Given the description of an element on the screen output the (x, y) to click on. 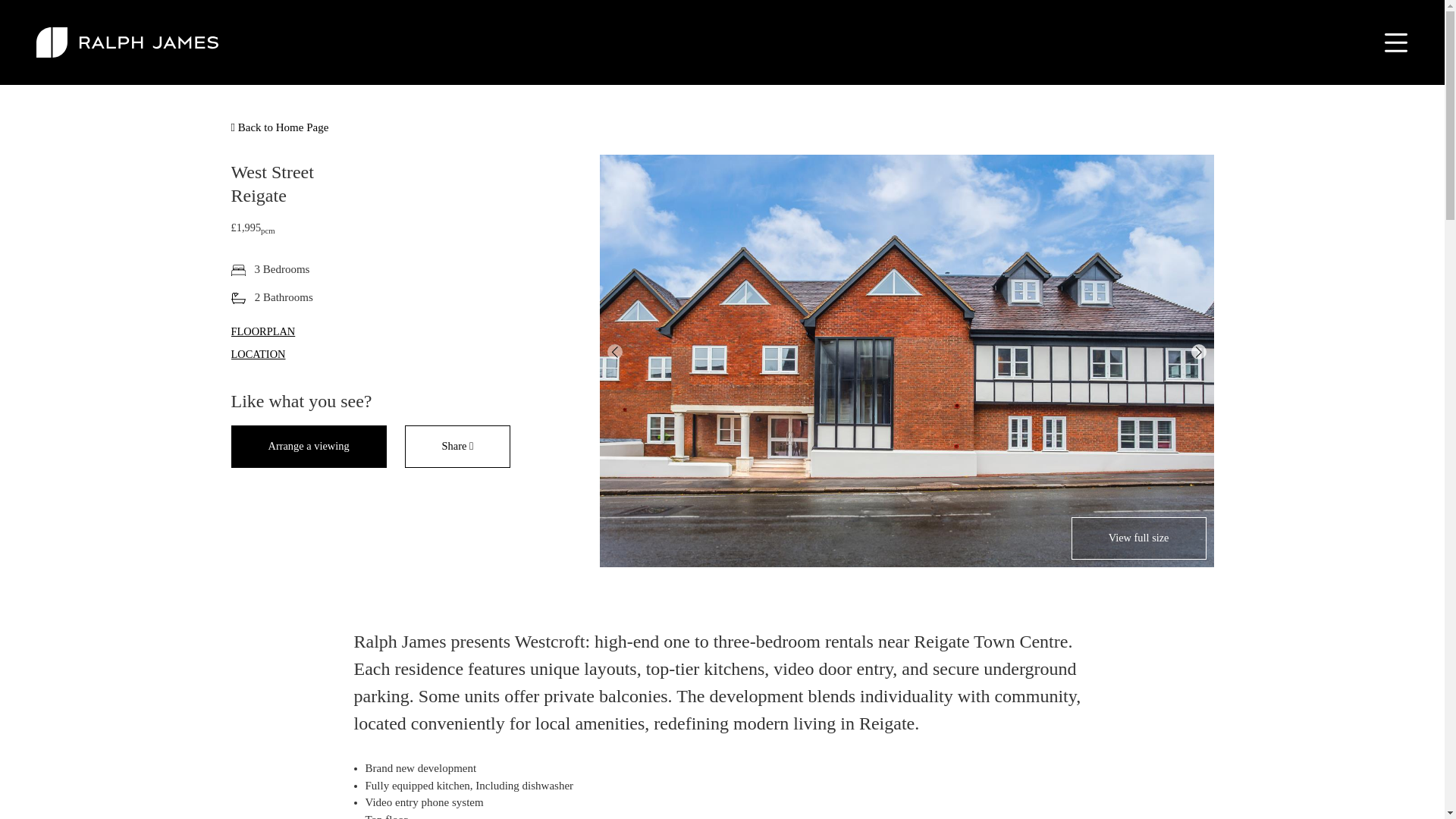
Menu (1392, 42)
